Given the description of an element on the screen output the (x, y) to click on. 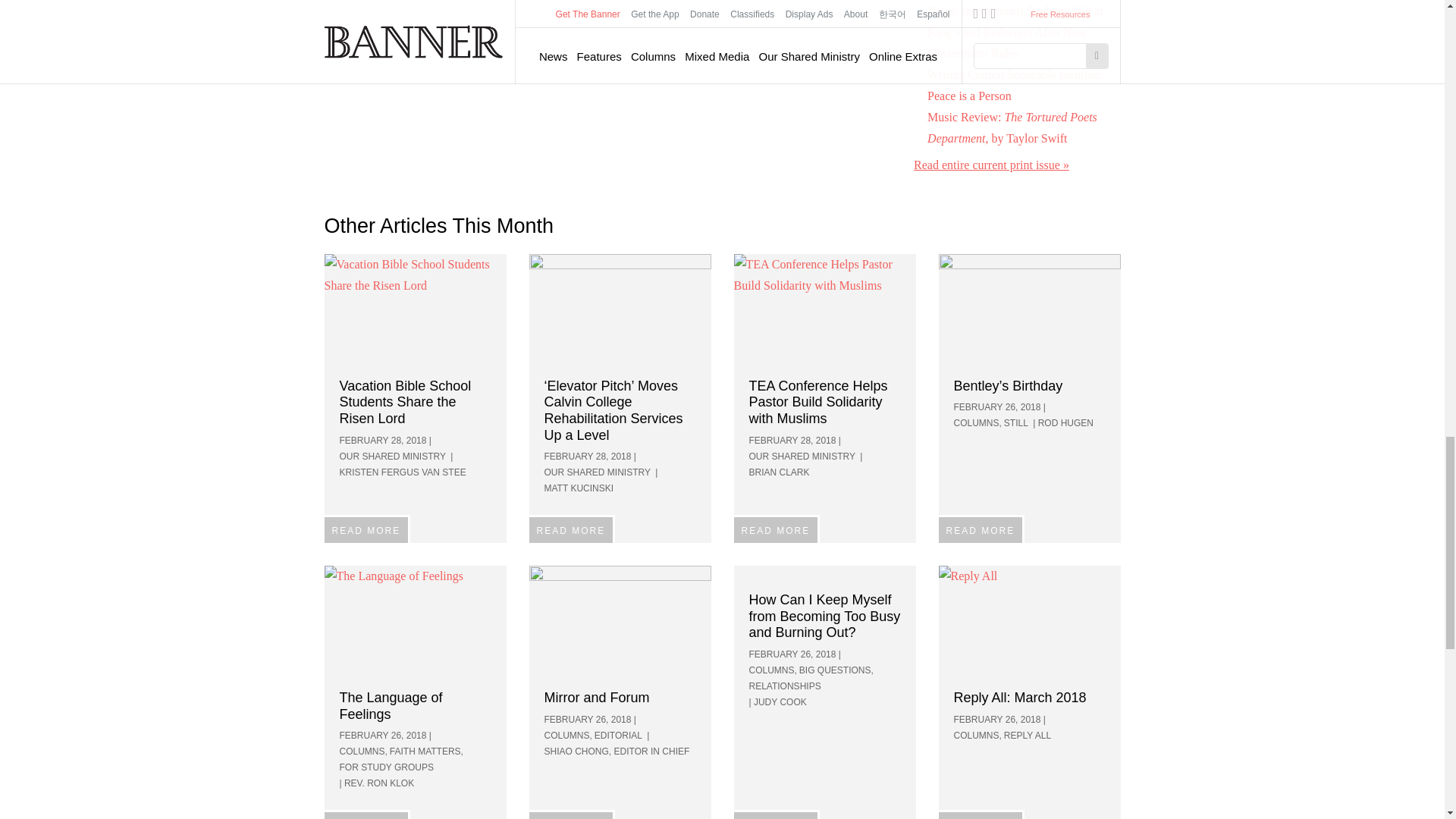
Writing Contest honorable mention: Peace is a Person (1014, 84)
Music Review: The Tortured Poets Department, by Taylor Swift (1012, 127)
Vacation Bible School Students Share the Risen Lord (415, 309)
TEA Conference Helps Pastor Build Solidarity with Muslims (824, 309)
The Language of Feelings (415, 621)
